Given the description of an element on the screen output the (x, y) to click on. 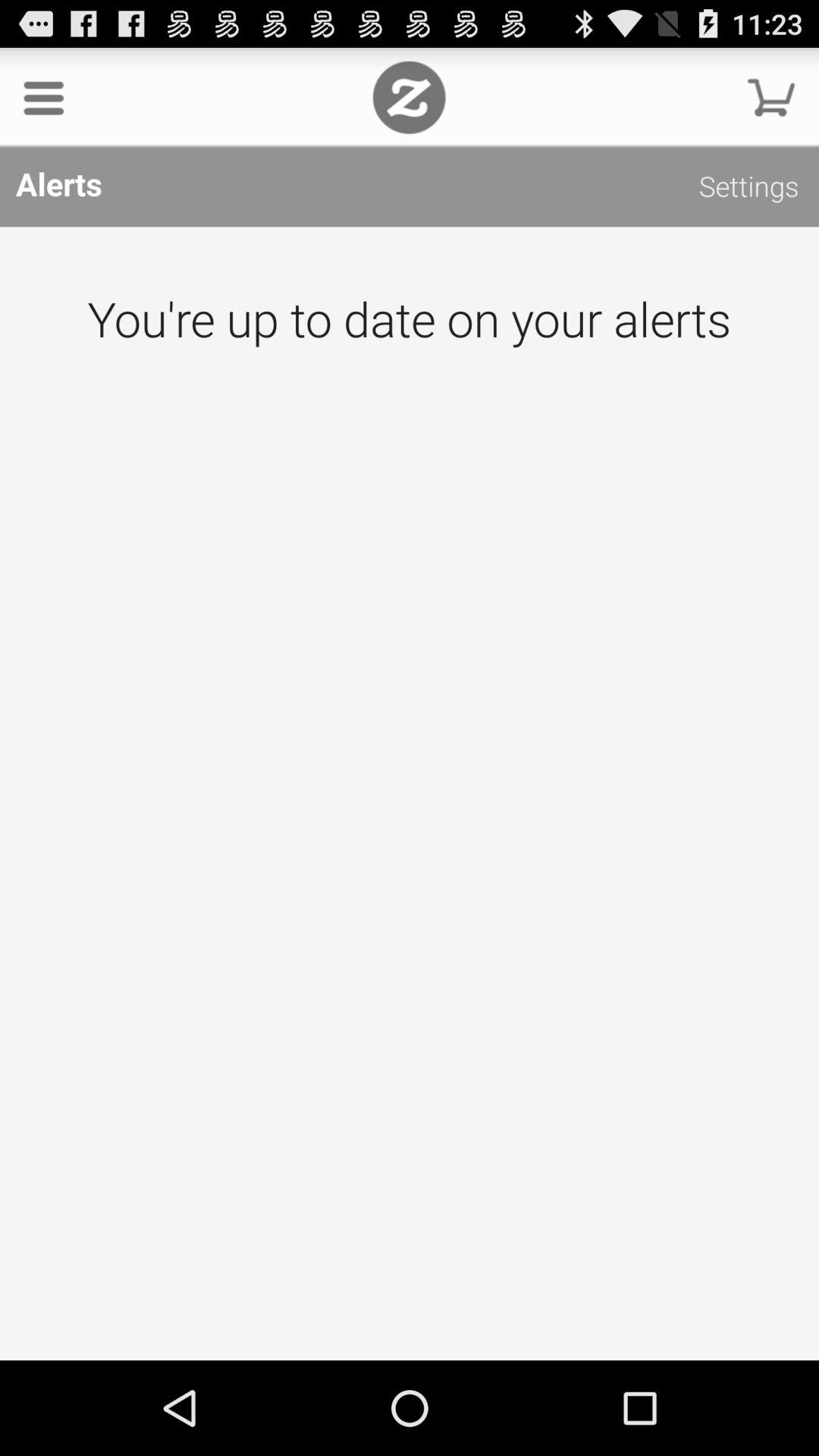
open menu (43, 97)
